Given the description of an element on the screen output the (x, y) to click on. 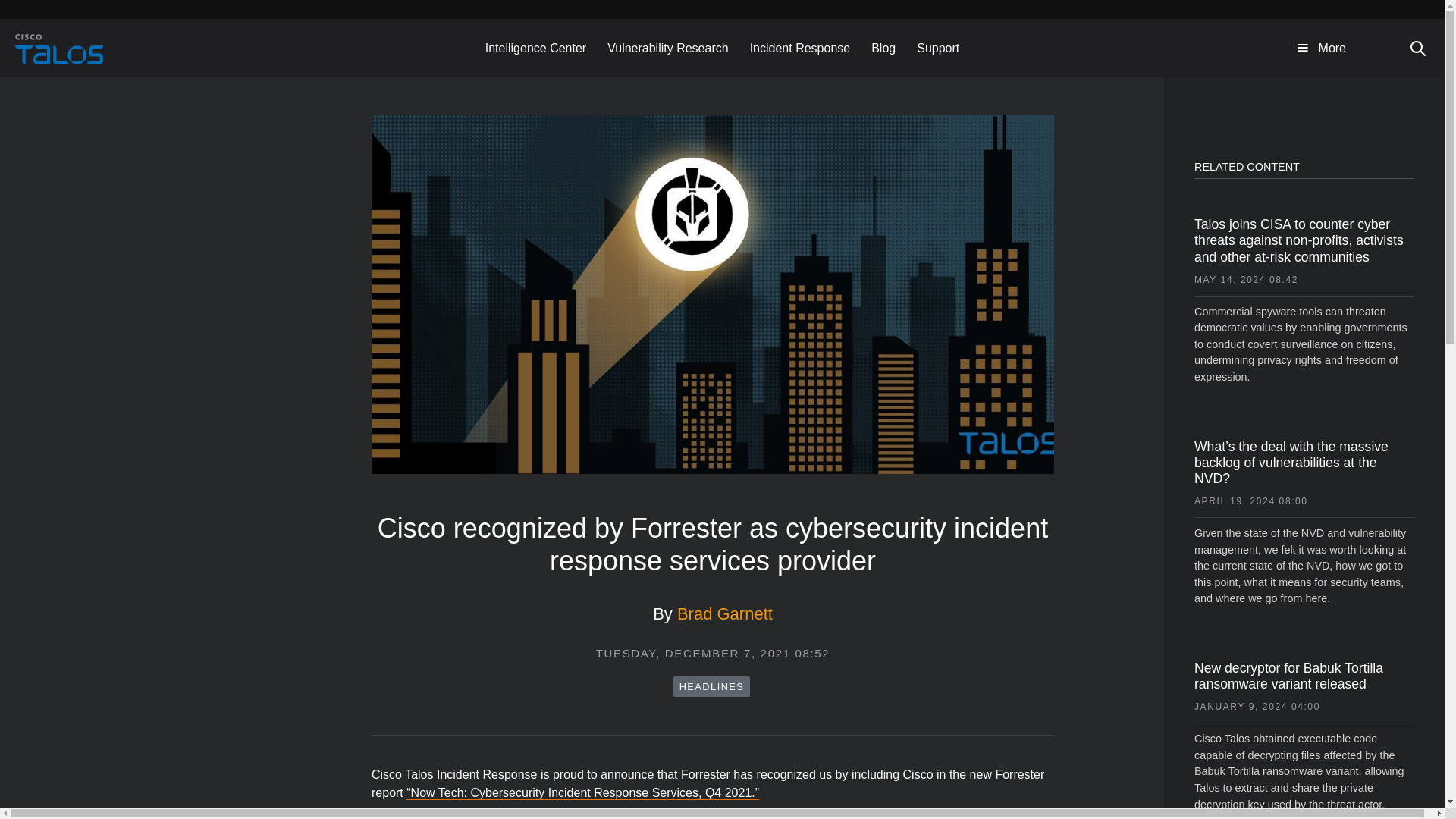
Brad Garnett (725, 613)
Intelligence Center (535, 47)
Incident Response (800, 47)
Vulnerability Research (667, 47)
Support (937, 47)
HEADLINES (711, 686)
